Given the description of an element on the screen output the (x, y) to click on. 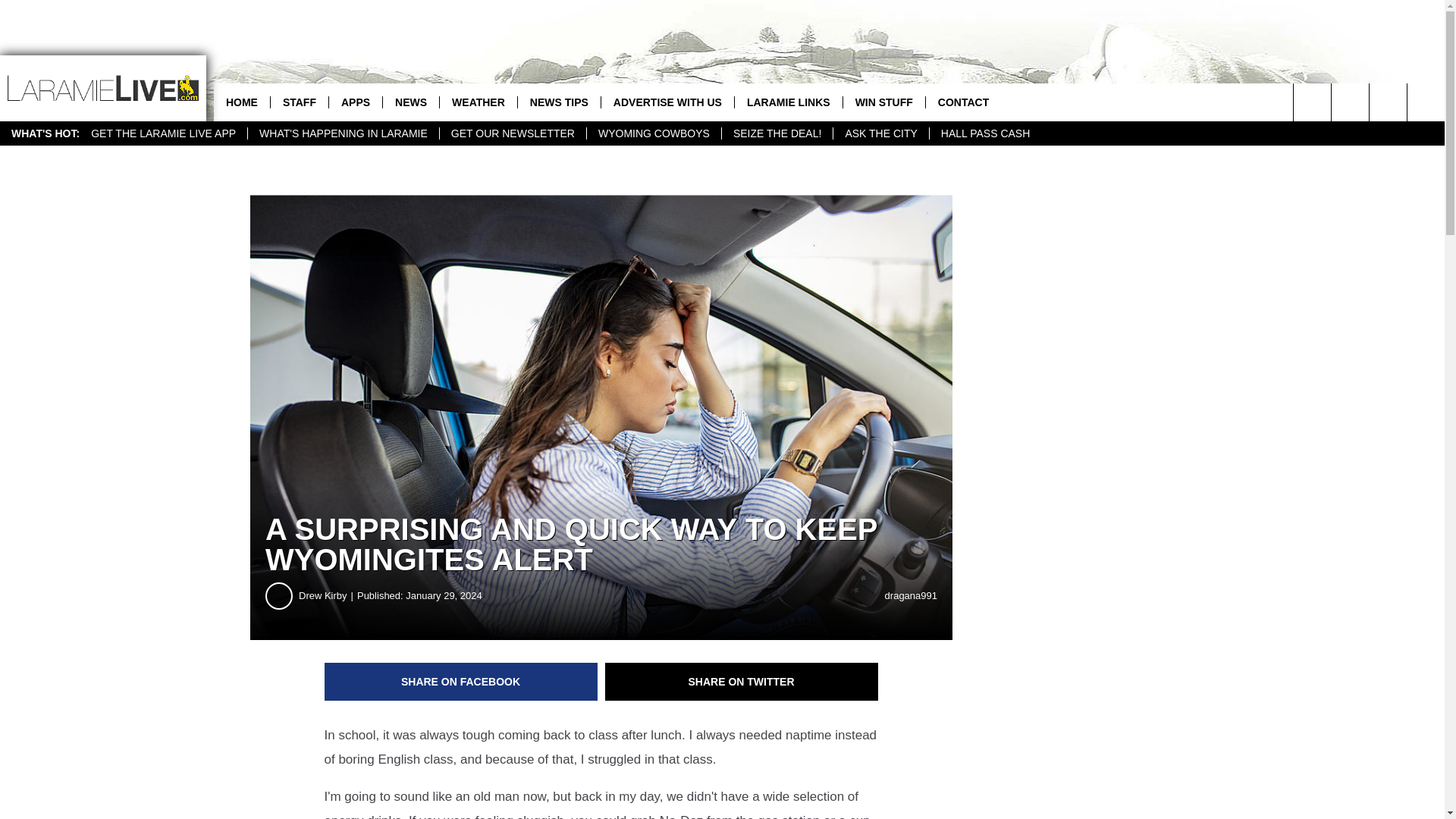
LARAMIE LINKS (788, 102)
WYOMING COWBOYS (653, 133)
WIN STUFF (883, 102)
GET THE LARAMIE LIVE APP (163, 133)
Share on Twitter (741, 681)
WEATHER (477, 102)
ADVERTISE WITH US (666, 102)
HALL PASS CASH (985, 133)
WHAT'S HAPPENING IN LARAMIE (343, 133)
SEIZE THE DEAL! (776, 133)
